Given the description of an element on the screen output the (x, y) to click on. 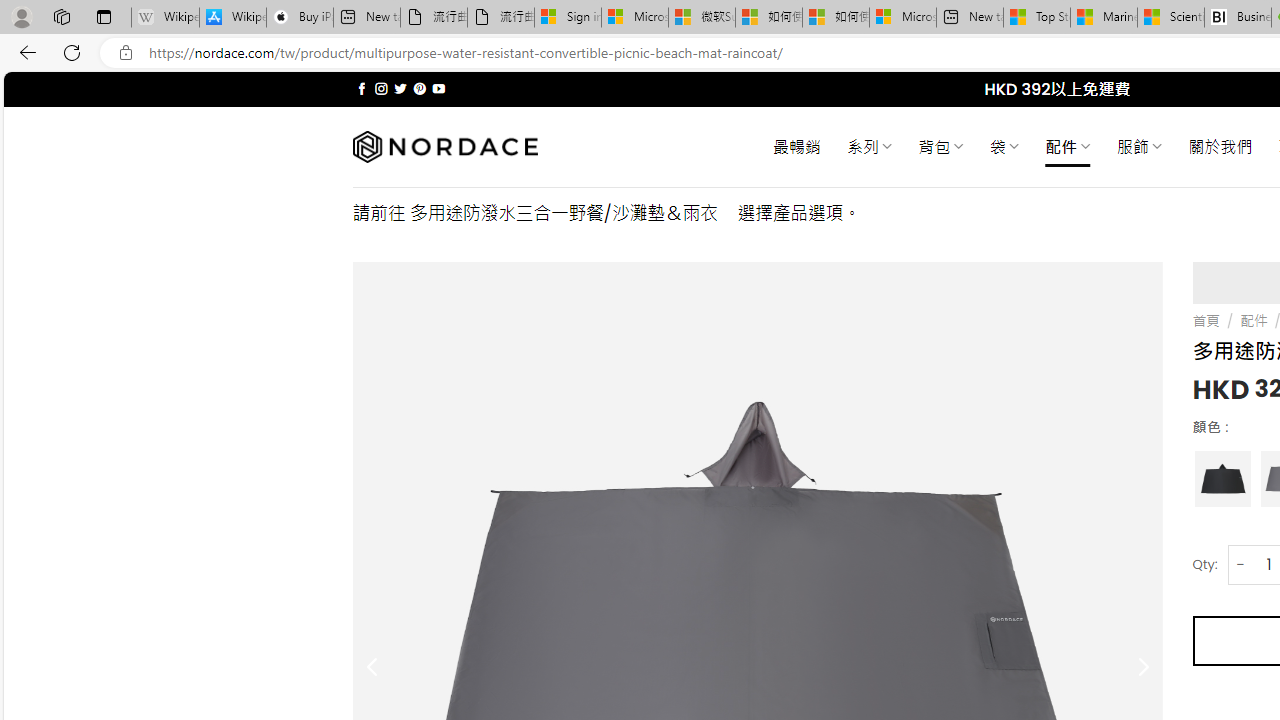
Follow on Facebook (361, 88)
Follow on Pinterest (419, 88)
Follow on YouTube (438, 88)
Follow on Instagram (381, 88)
